Given the description of an element on the screen output the (x, y) to click on. 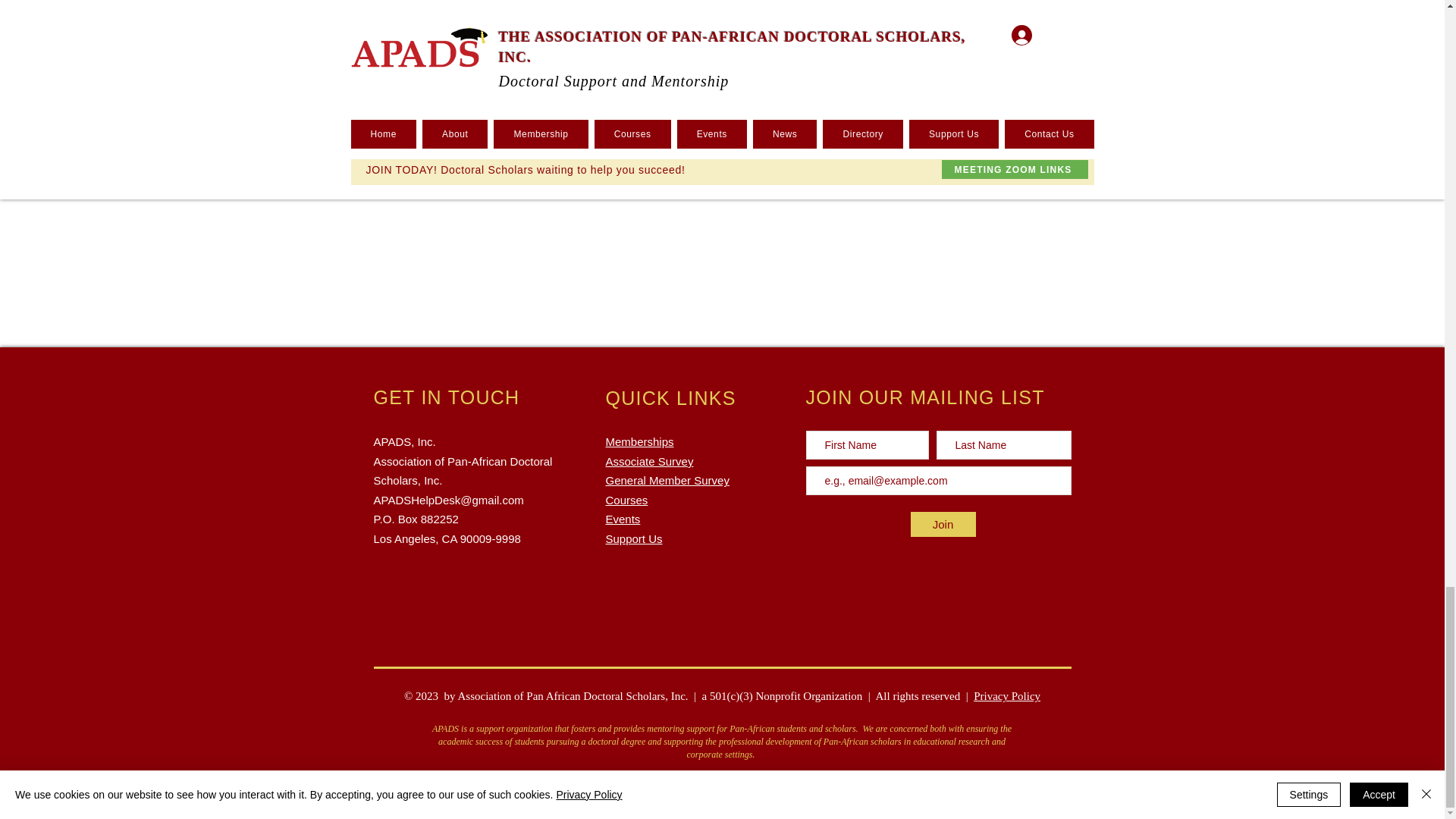
Support Us (667, 460)
Events (633, 538)
Join (622, 518)
Privacy Policy (942, 524)
Courses (1007, 695)
